Given the description of an element on the screen output the (x, y) to click on. 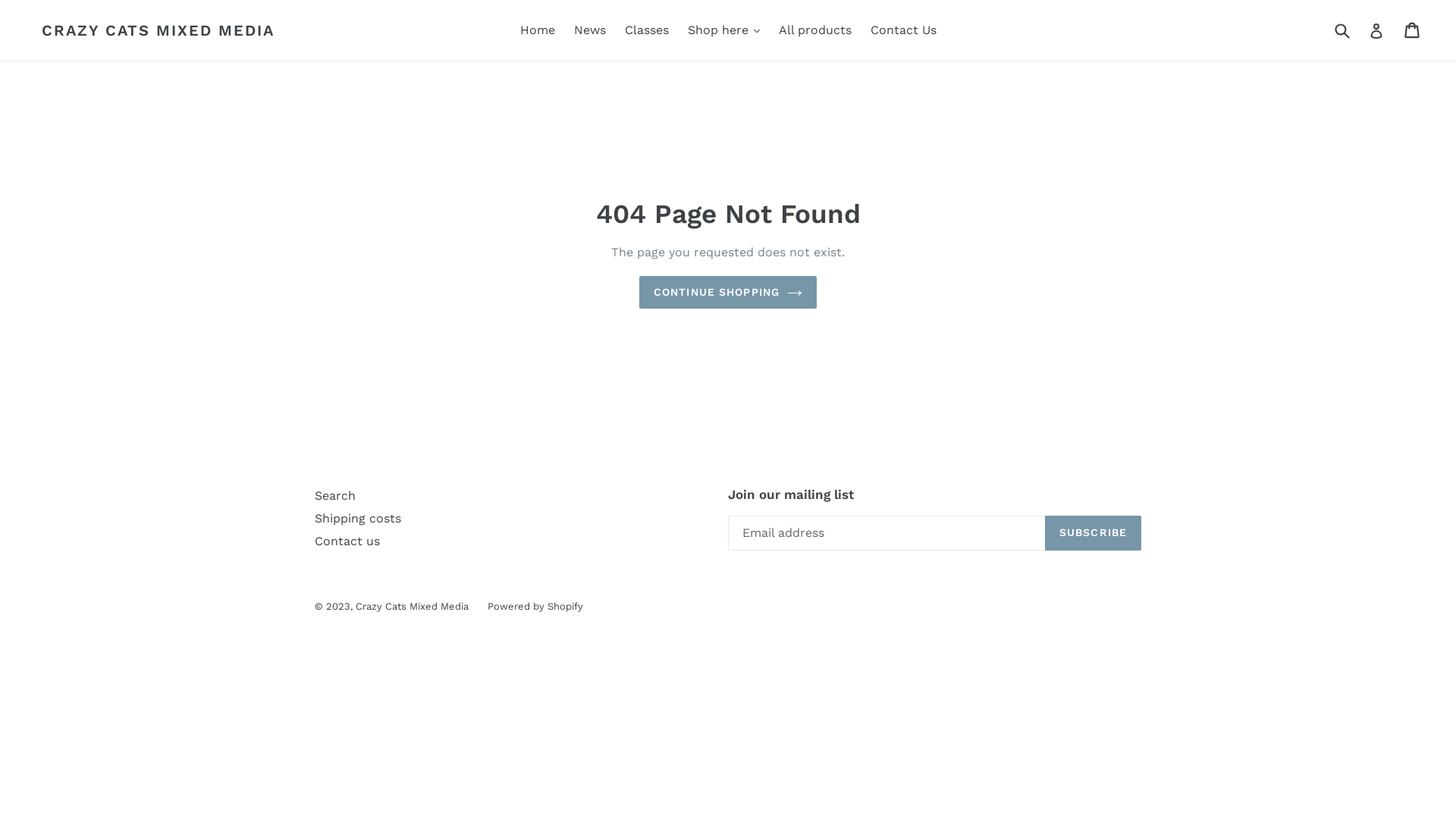
SUBSCRIBE Element type: text (1092, 532)
Search Element type: text (334, 495)
All products Element type: text (814, 29)
Contact us Element type: text (346, 540)
CONTINUE SHOPPING Element type: text (727, 292)
Classes Element type: text (646, 29)
Crazy Cats Mixed Media Element type: text (411, 605)
Submit Element type: text (1341, 29)
Powered by Shopify Element type: text (535, 605)
Log in Element type: text (1375, 30)
Home Element type: text (537, 29)
CRAZY CATS MIXED MEDIA Element type: text (157, 30)
Shipping costs Element type: text (357, 518)
News Element type: text (588, 29)
Cart
Cart Element type: text (1412, 29)
Contact Us Element type: text (903, 29)
